Given the description of an element on the screen output the (x, y) to click on. 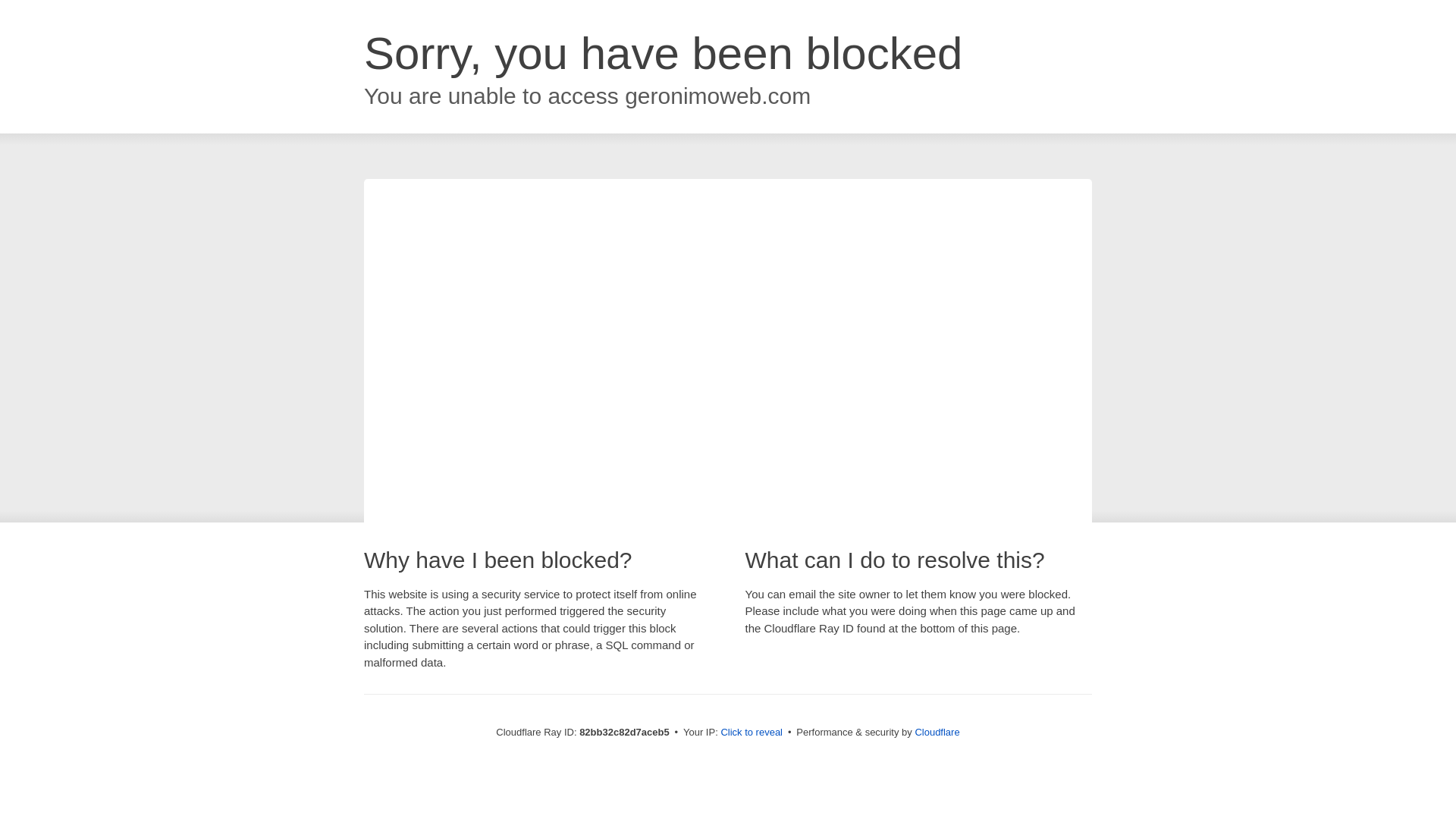
Click to reveal Element type: text (751, 732)
Cloudflare Element type: text (936, 731)
